Given the description of an element on the screen output the (x, y) to click on. 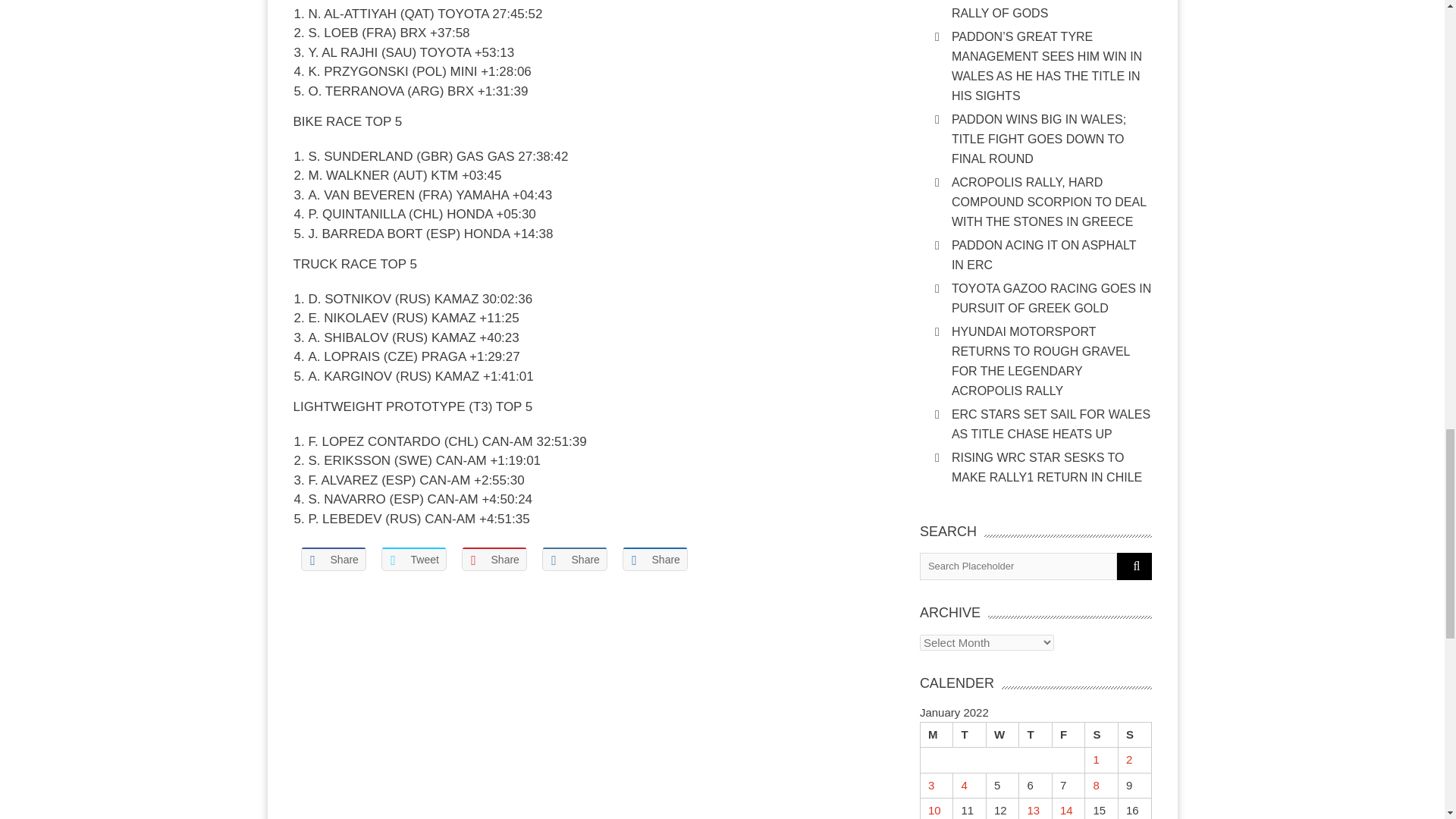
Share on Facebook (332, 558)
Tweet (412, 558)
Share (332, 558)
Share on Pinterest (493, 558)
Share on LinkedIn (574, 558)
Share on Digg (654, 558)
Share on Twitter (412, 558)
Share (493, 558)
